Given the description of an element on the screen output the (x, y) to click on. 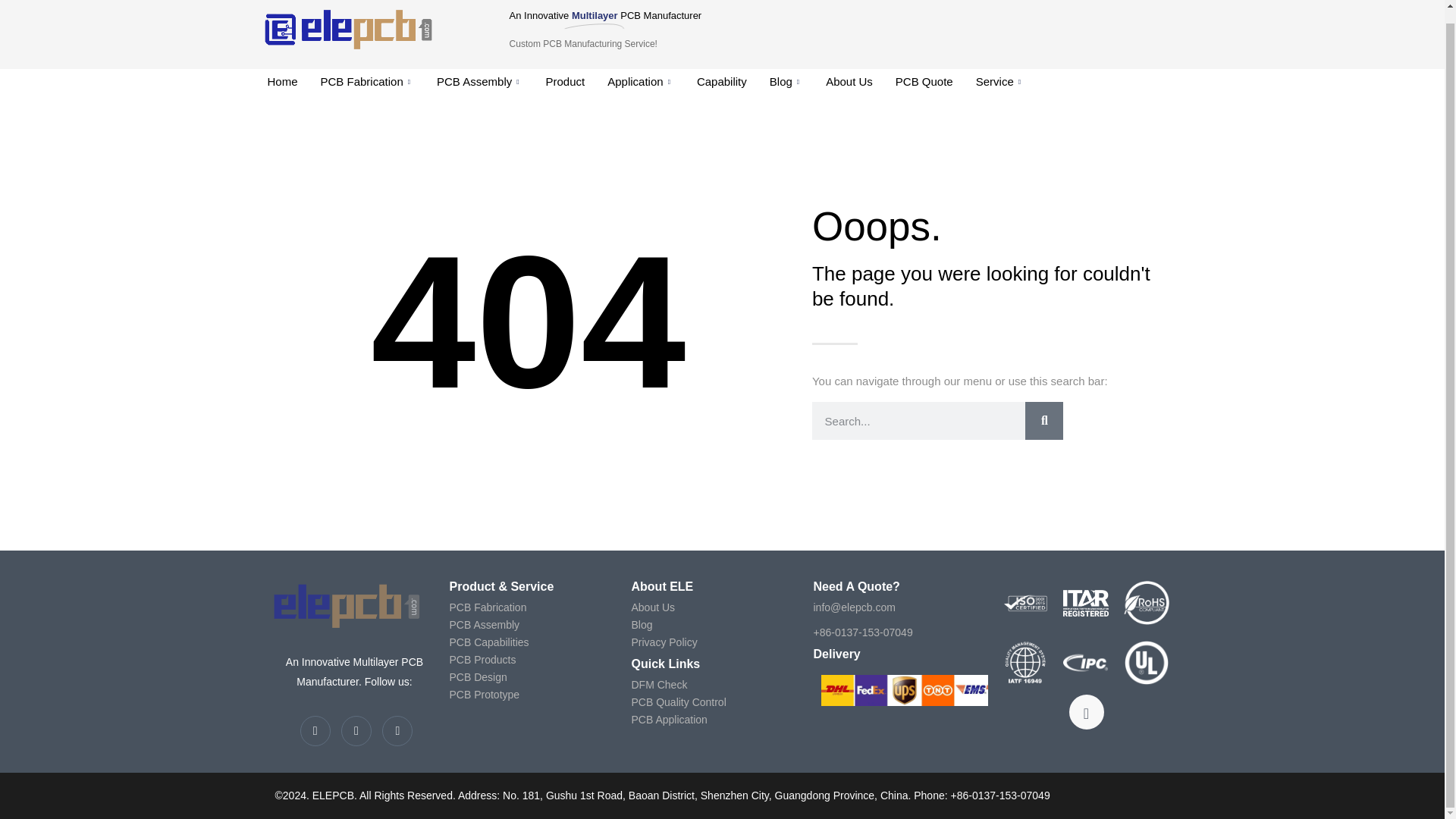
PCB Fabrication (367, 81)
Blog (785, 81)
Product (565, 81)
About Us (848, 81)
Home (282, 81)
Application (640, 81)
PCB Assembly (479, 81)
Capability (721, 81)
Service (999, 81)
PCB Quote (923, 81)
